Given the description of an element on the screen output the (x, y) to click on. 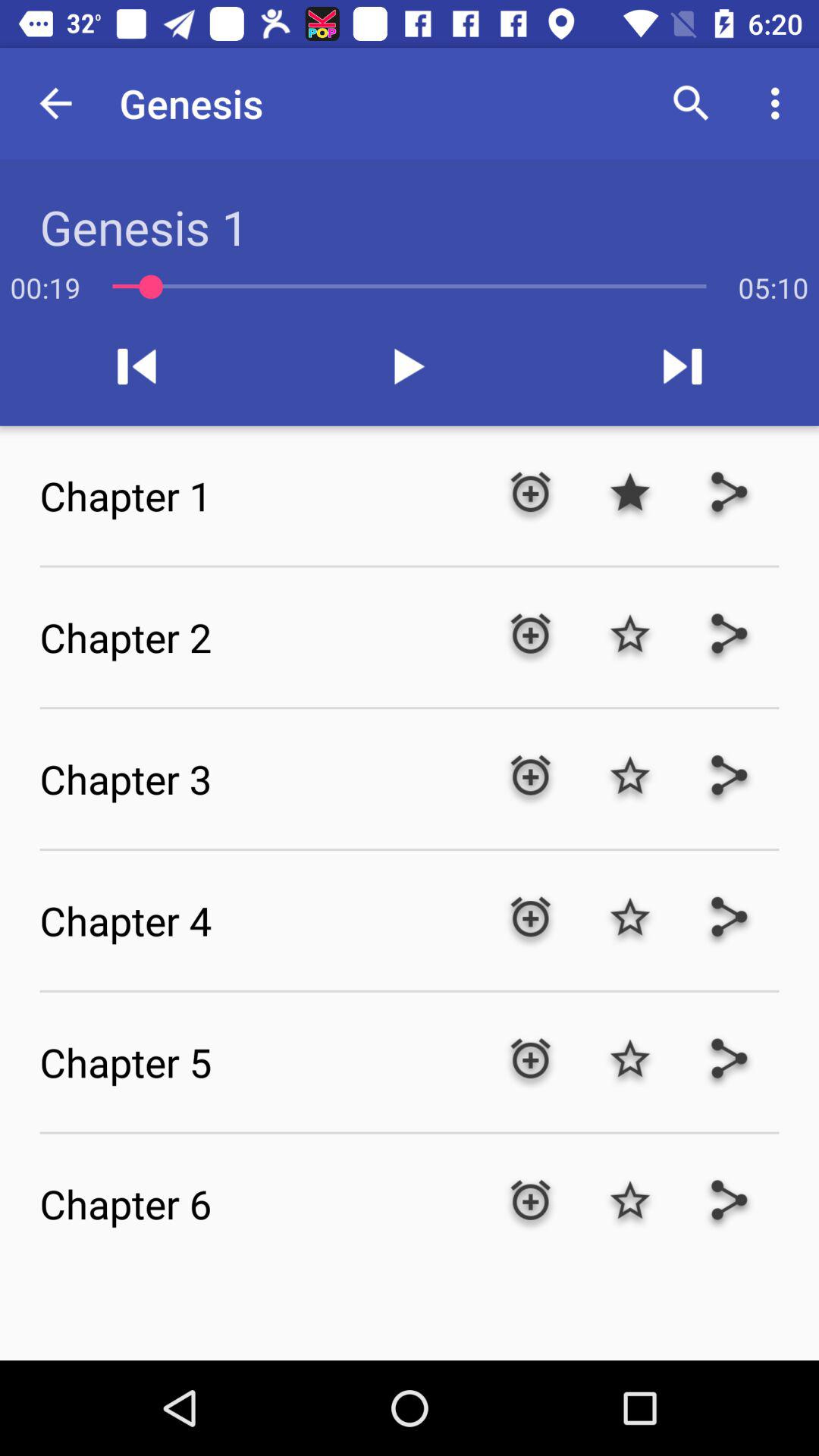
scroll to chapter 3 item (259, 778)
